Given the description of an element on the screen output the (x, y) to click on. 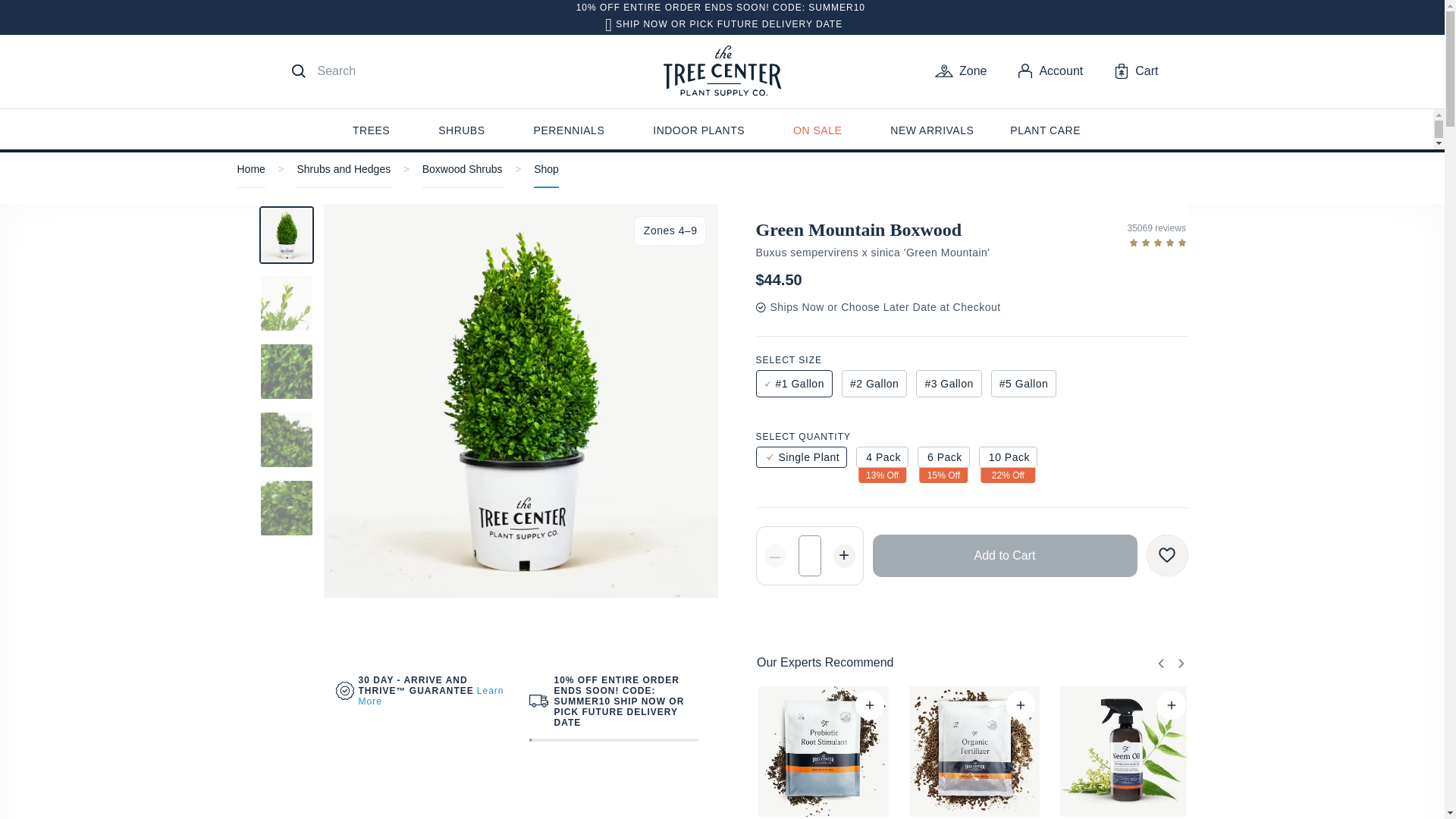
TREES (370, 132)
0 (880, 705)
0 (1032, 705)
Account (1049, 71)
Cart (1135, 71)
0 (1182, 705)
Zone (960, 71)
